Given the description of an element on the screen output the (x, y) to click on. 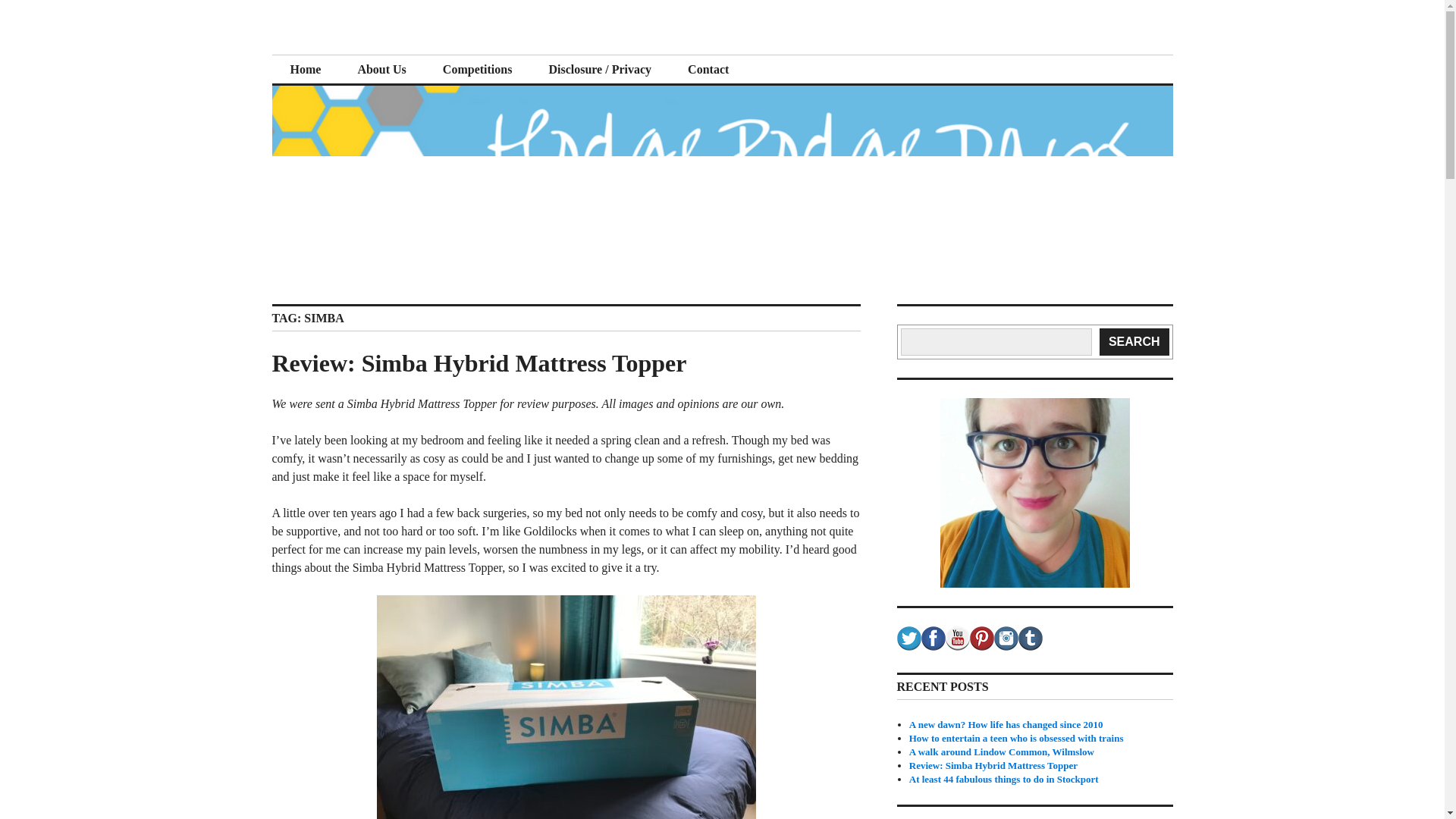
Review: Simba Hybrid Mattress Topper (477, 362)
How to entertain a teen who is obsessed with trains (1016, 737)
A new dawn? How life has changed since 2010 (1005, 724)
About Us (381, 69)
Home (304, 69)
Contact (707, 69)
A walk around Lindow Common, Wilmslow (1001, 751)
Competitions (478, 69)
Review: Simba Hybrid Mattress Topper (992, 765)
SEARCH (1134, 341)
HodgePodgeDays (384, 53)
At least 44 fabulous things to do in Stockport (1003, 778)
